Given the description of an element on the screen output the (x, y) to click on. 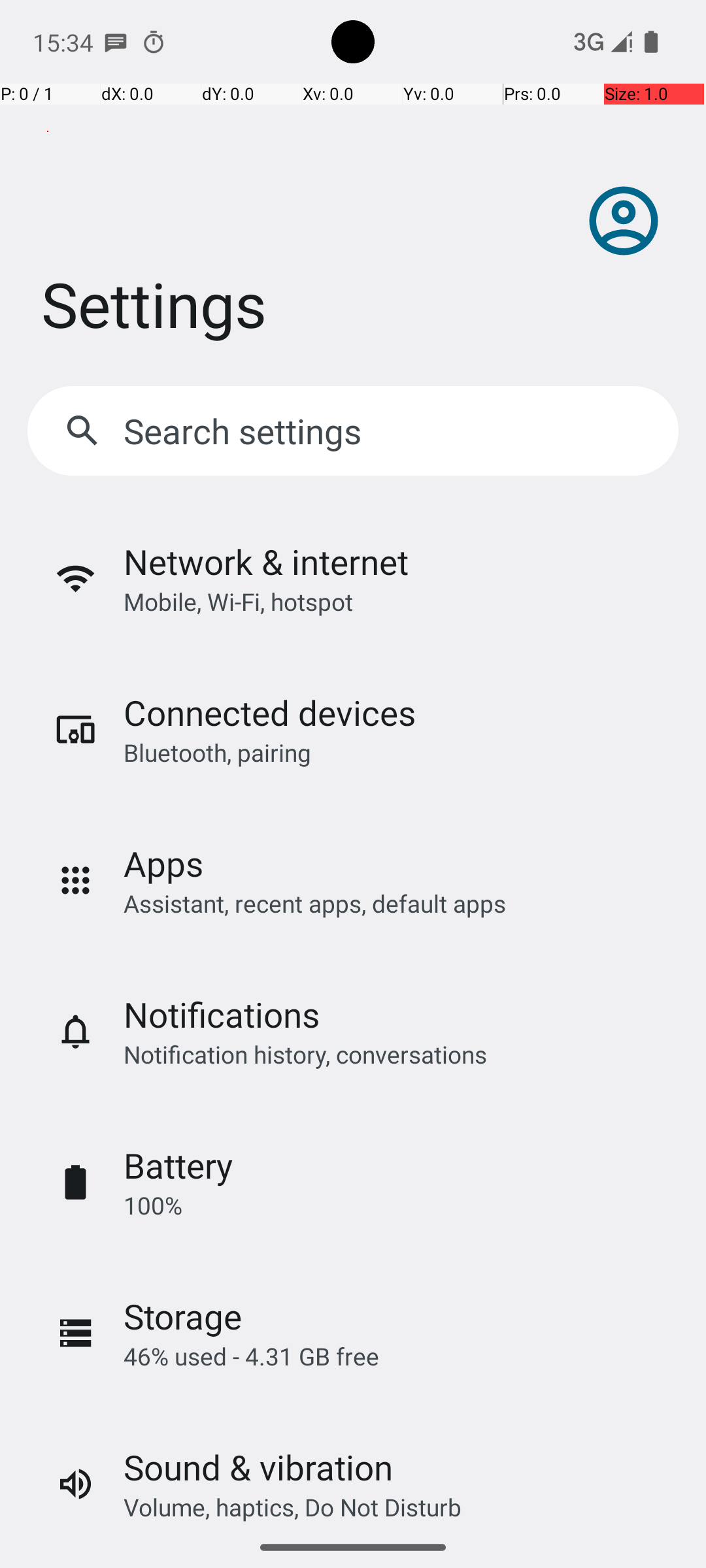
46% used - 4.31 GB free Element type: android.widget.TextView (251, 1355)
